Given the description of an element on the screen output the (x, y) to click on. 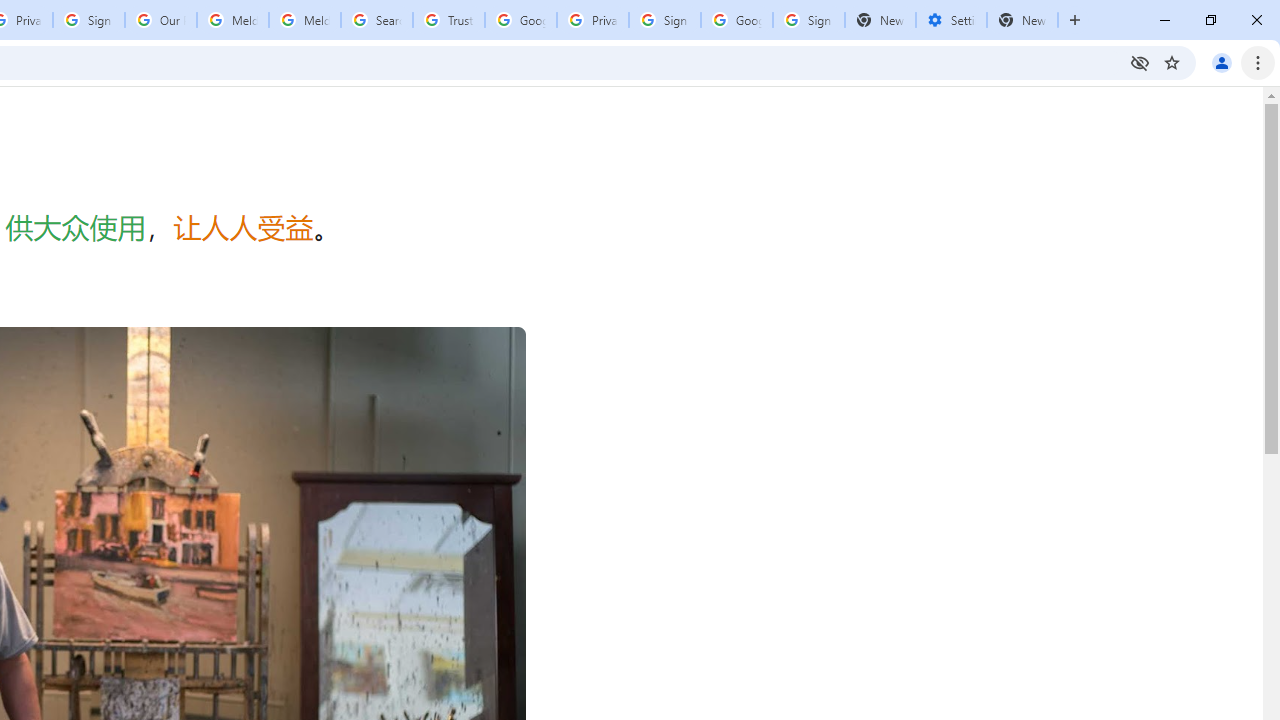
Restore (1210, 20)
Sign in - Google Accounts (808, 20)
Settings - Addresses and more (951, 20)
New Tab (1022, 20)
You (1221, 62)
